Given the description of an element on the screen output the (x, y) to click on. 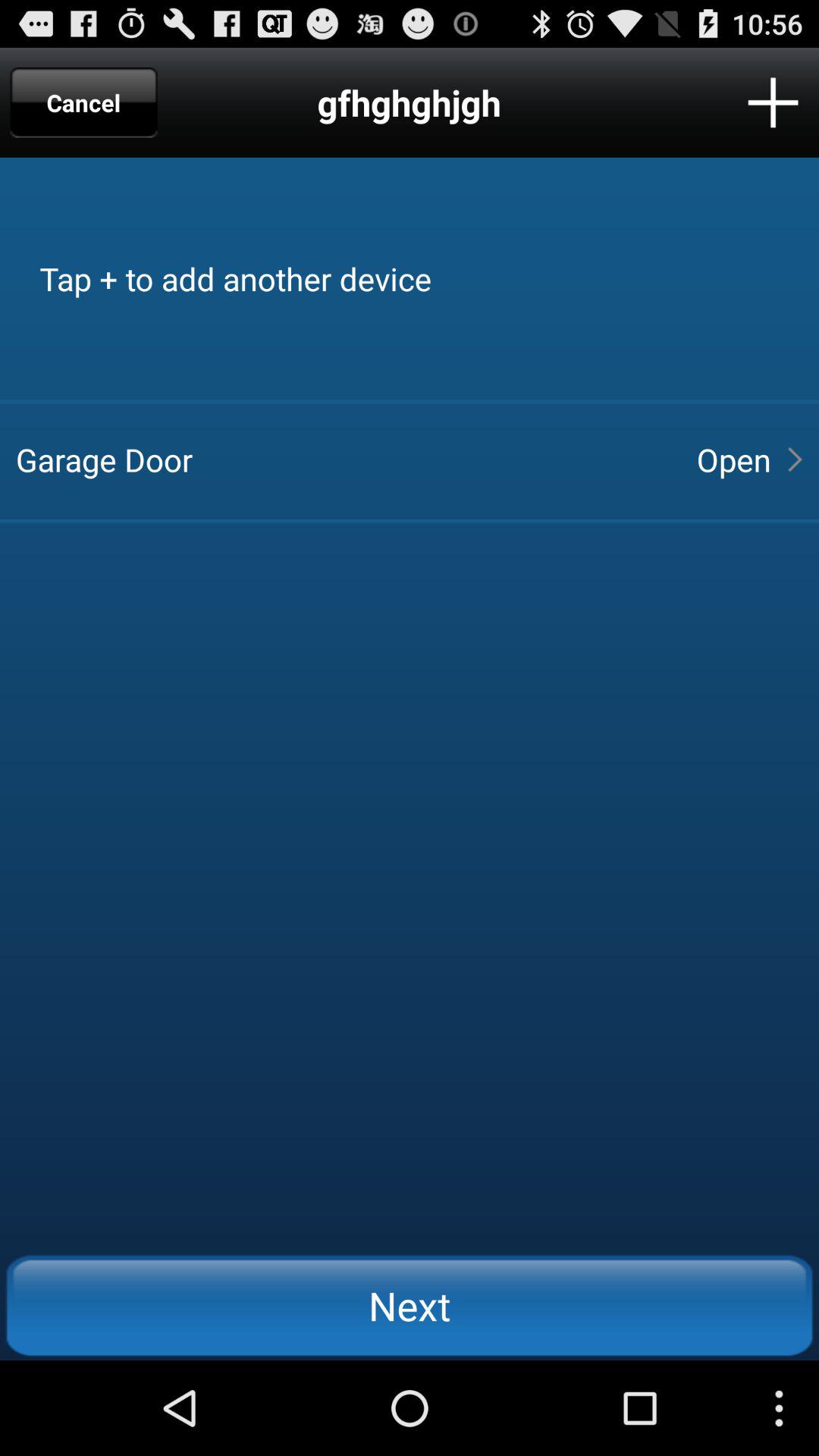
click icon below tap to add item (733, 459)
